Given the description of an element on the screen output the (x, y) to click on. 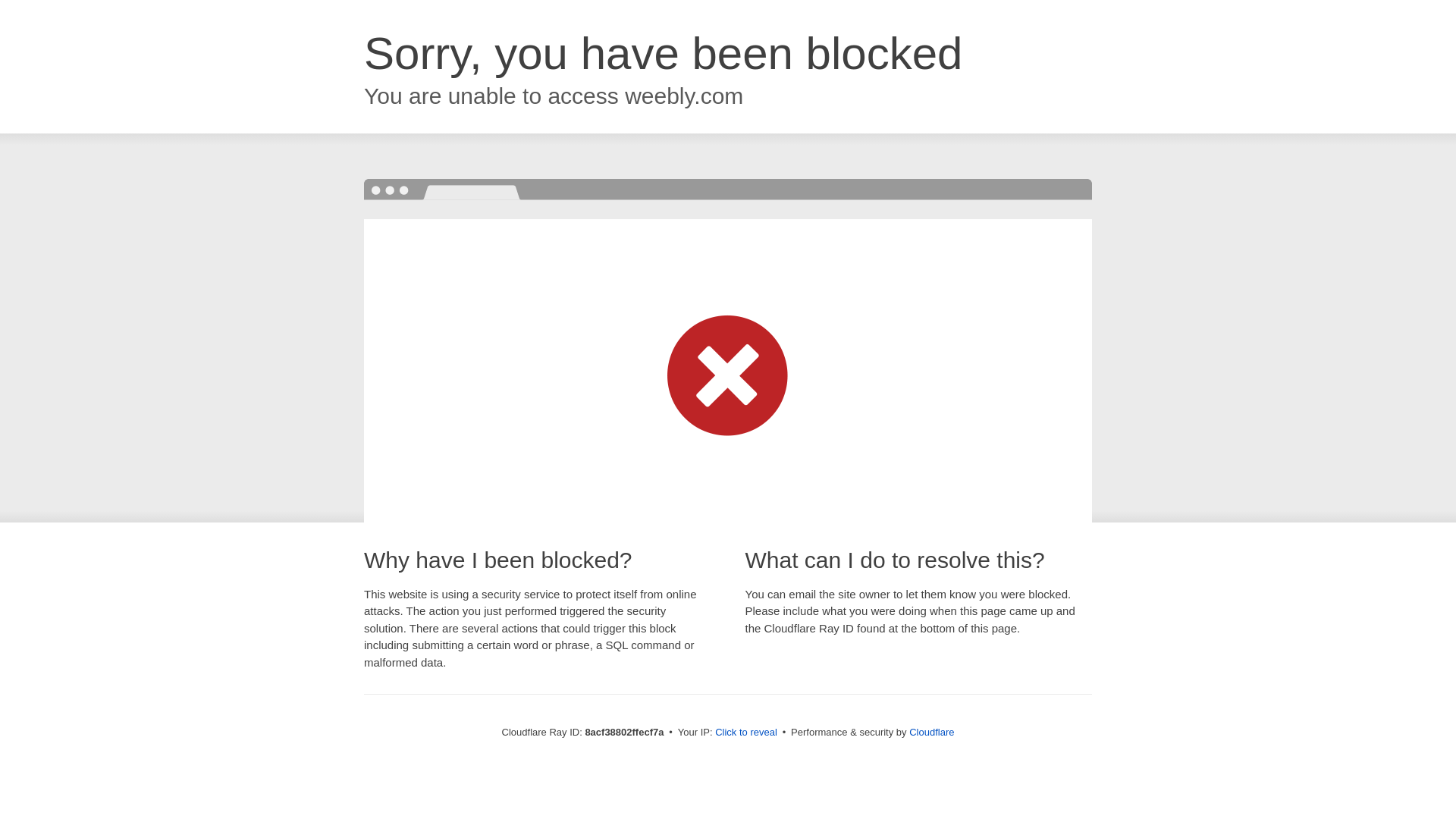
Cloudflare (930, 731)
Click to reveal (745, 732)
